Given the description of an element on the screen output the (x, y) to click on. 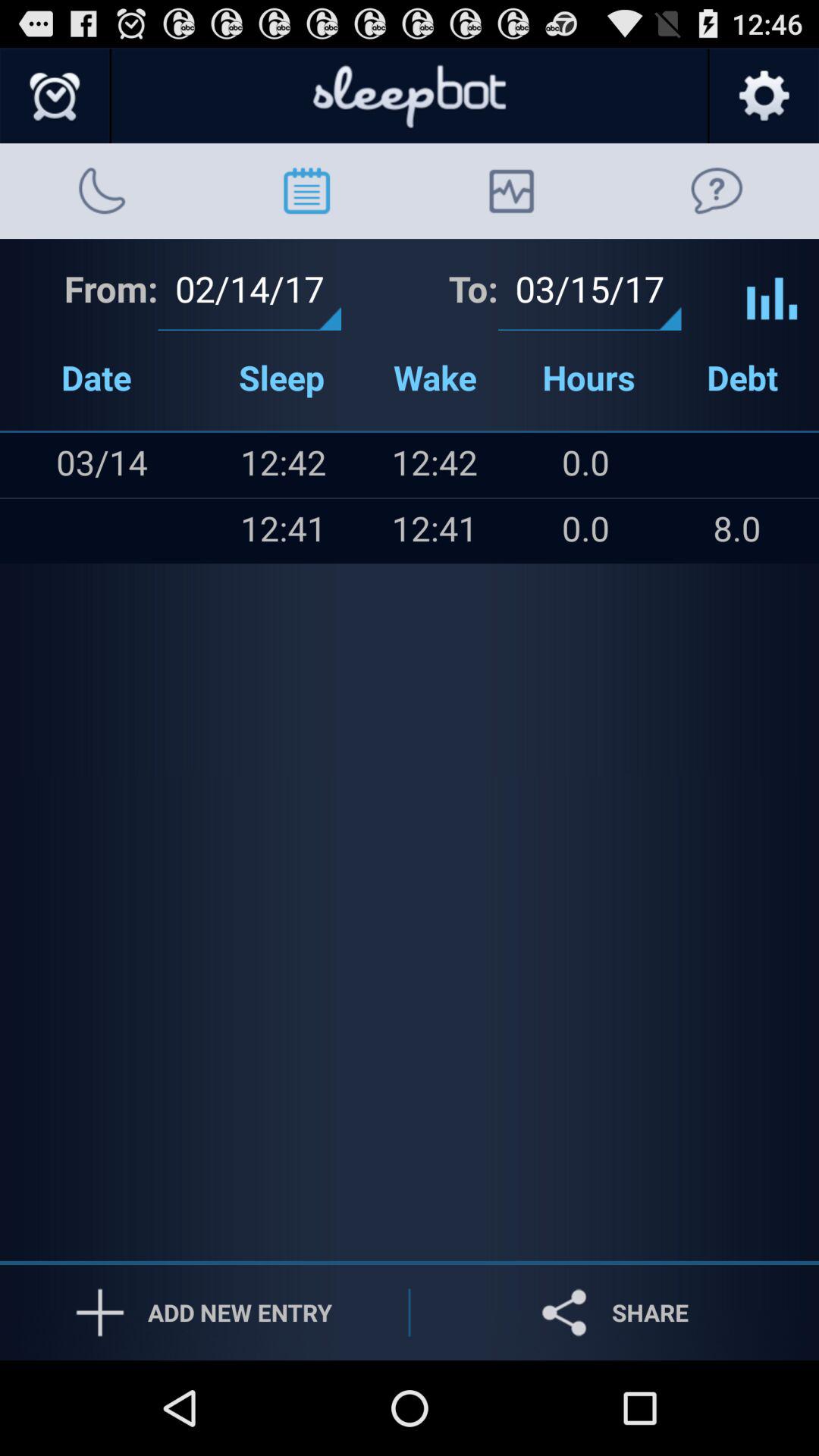
choose the app above debt app (772, 286)
